Given the description of an element on the screen output the (x, y) to click on. 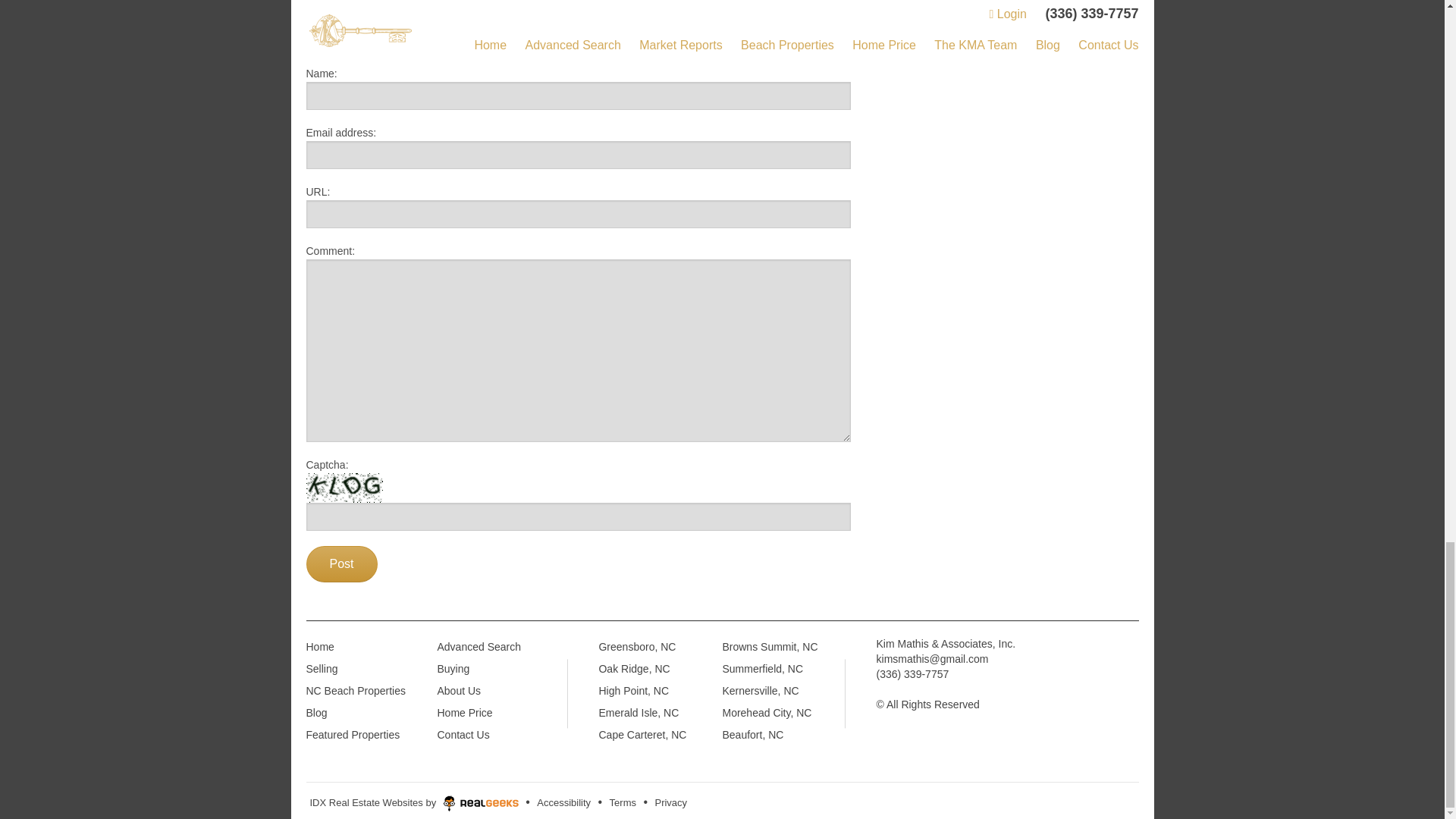
no comments yet (797, 34)
Selling Your Home (384, 32)
Post (341, 564)
Post (341, 564)
